Given the description of an element on the screen output the (x, y) to click on. 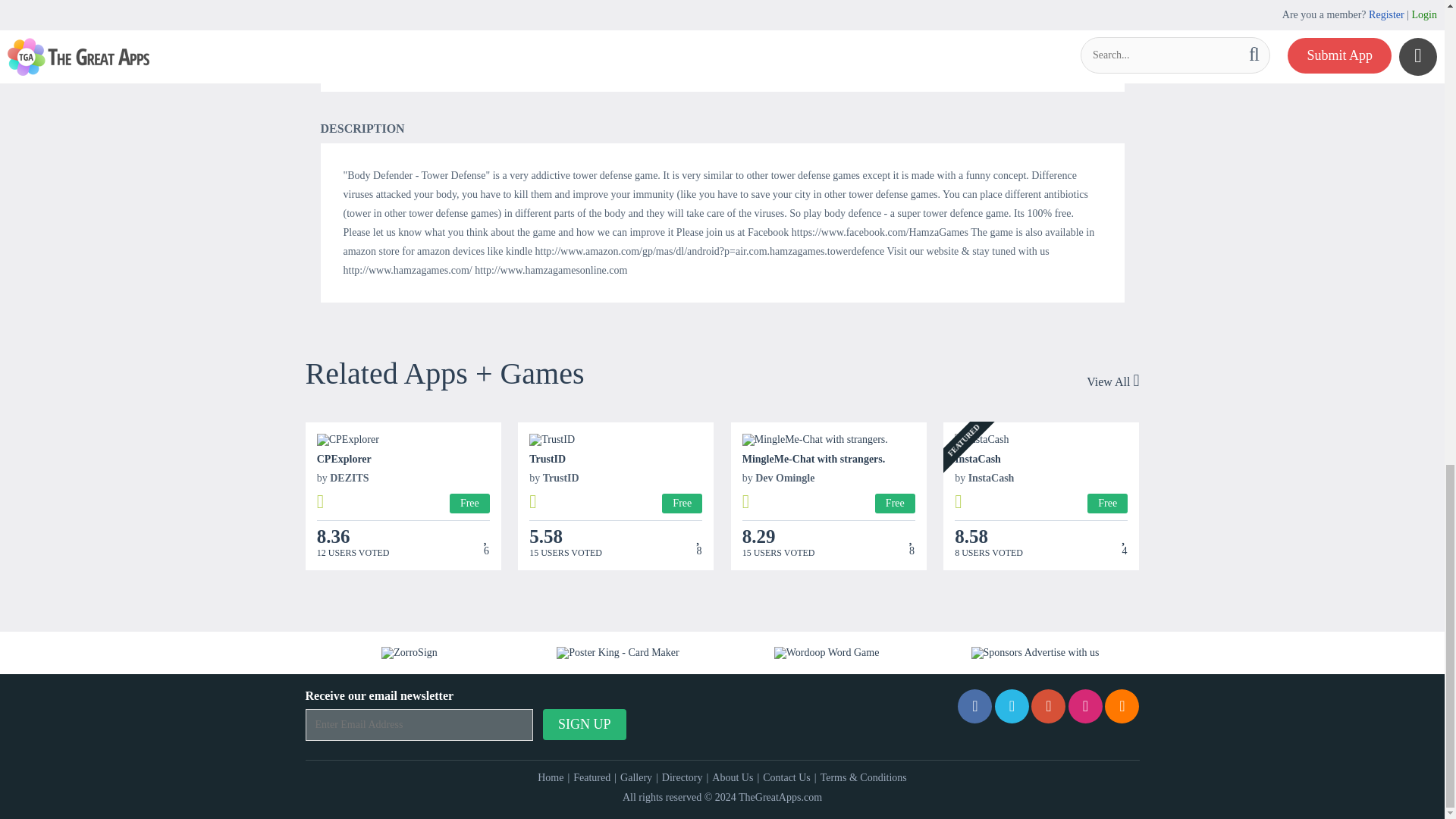
ZorroSign (409, 653)
Wordoop Word Game (826, 653)
Instagram (1085, 706)
Sponsors Advertise with us (1035, 653)
Poster King - Card Maker (617, 653)
Facebook (974, 706)
Pinterest (1047, 706)
Sign up (584, 724)
Twitter (1011, 706)
Rss (1121, 706)
